Given the description of an element on the screen output the (x, y) to click on. 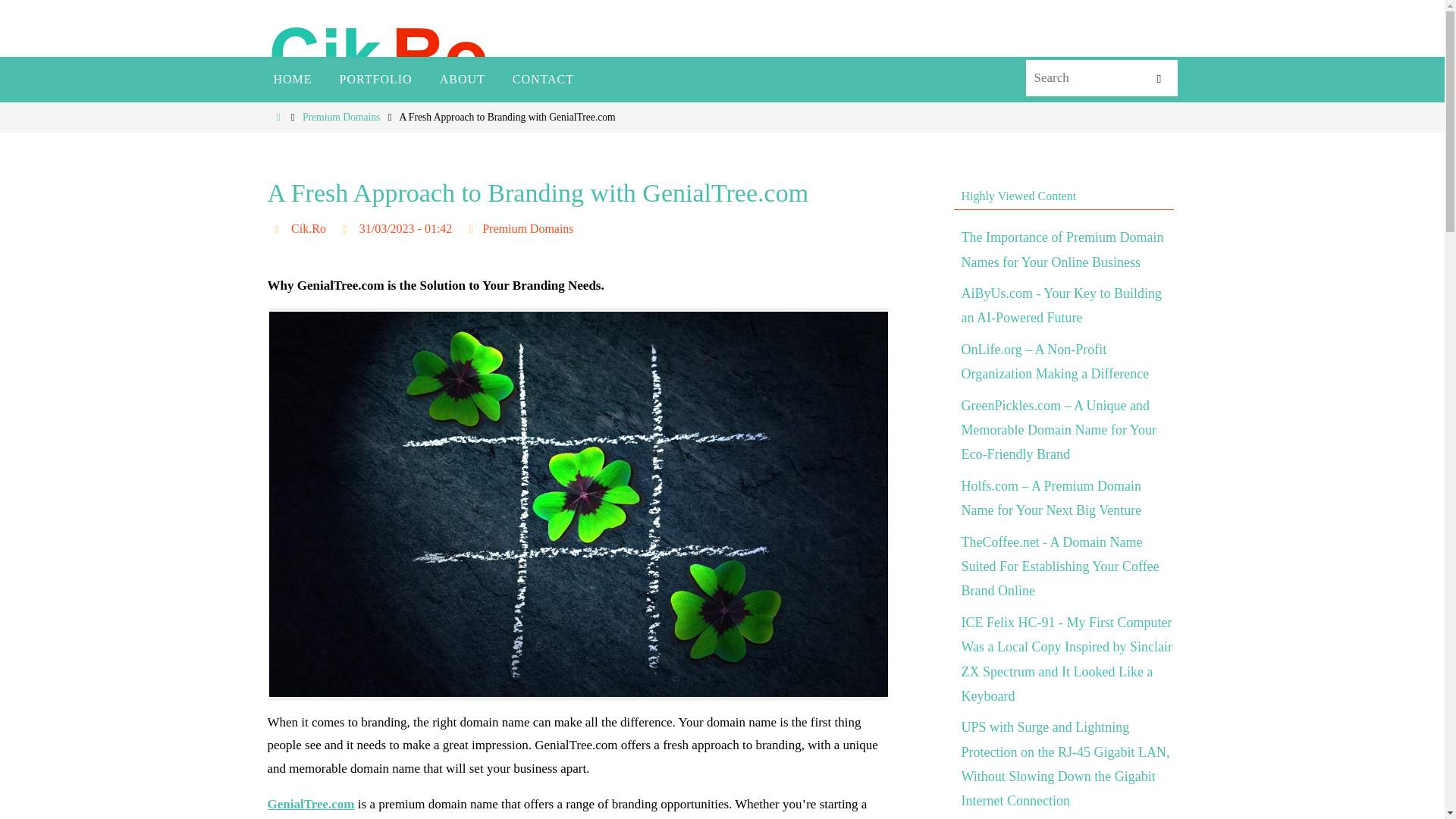
Date (346, 228)
Home (277, 116)
Cik.Ro (308, 228)
Premium Domains (341, 116)
AiByUs.com - Your Key to Building an AI-Powered Future (1060, 305)
PORTFOLIO (376, 79)
Search (1158, 78)
ABOUT (462, 79)
HOME (291, 79)
Categories (472, 228)
Premium Domains (527, 228)
Author  (278, 228)
CONTACT (543, 79)
